Given the description of an element on the screen output the (x, y) to click on. 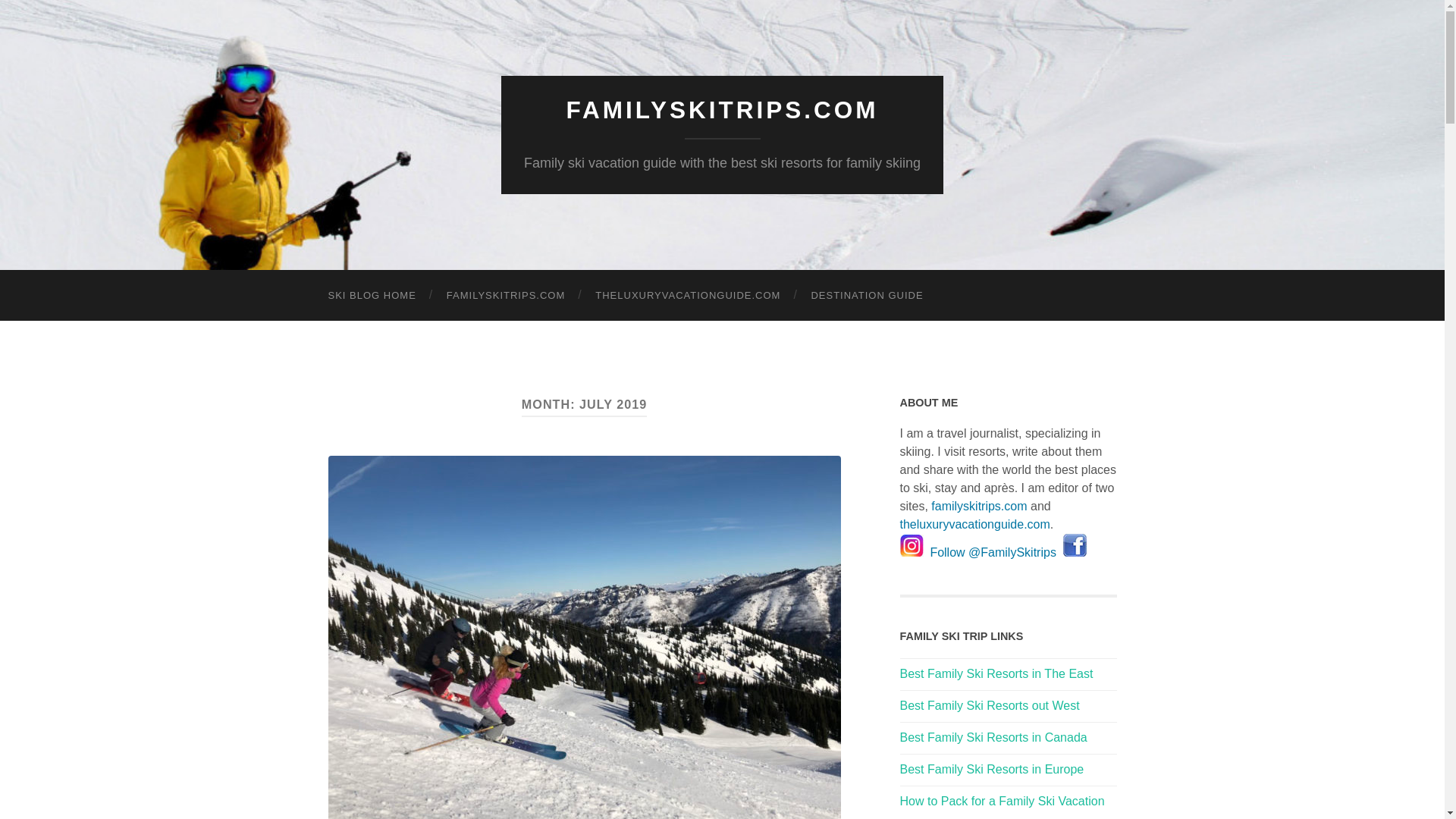
THELUXURYVACATIONGUIDE.COM (686, 295)
FAMILYSKITRIPS.COM (504, 295)
DESTINATION GUIDE (865, 295)
SKI BLOG HOME (371, 295)
FAMILYSKITRIPS.COM (721, 109)
